Given the description of an element on the screen output the (x, y) to click on. 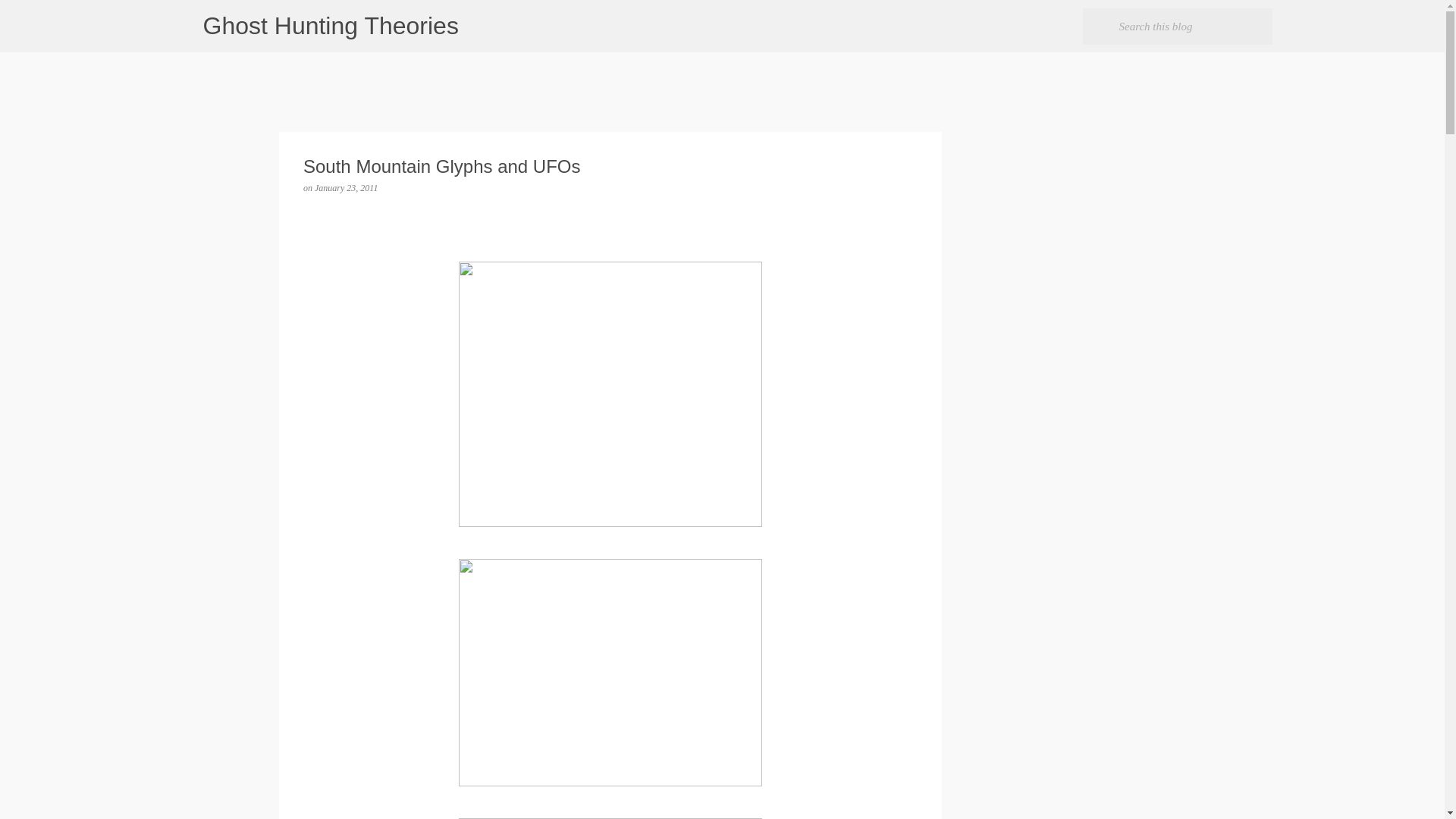
Ghost Hunting Theories (330, 25)
January 23, 2011 (345, 187)
permanent link (345, 187)
